Given the description of an element on the screen output the (x, y) to click on. 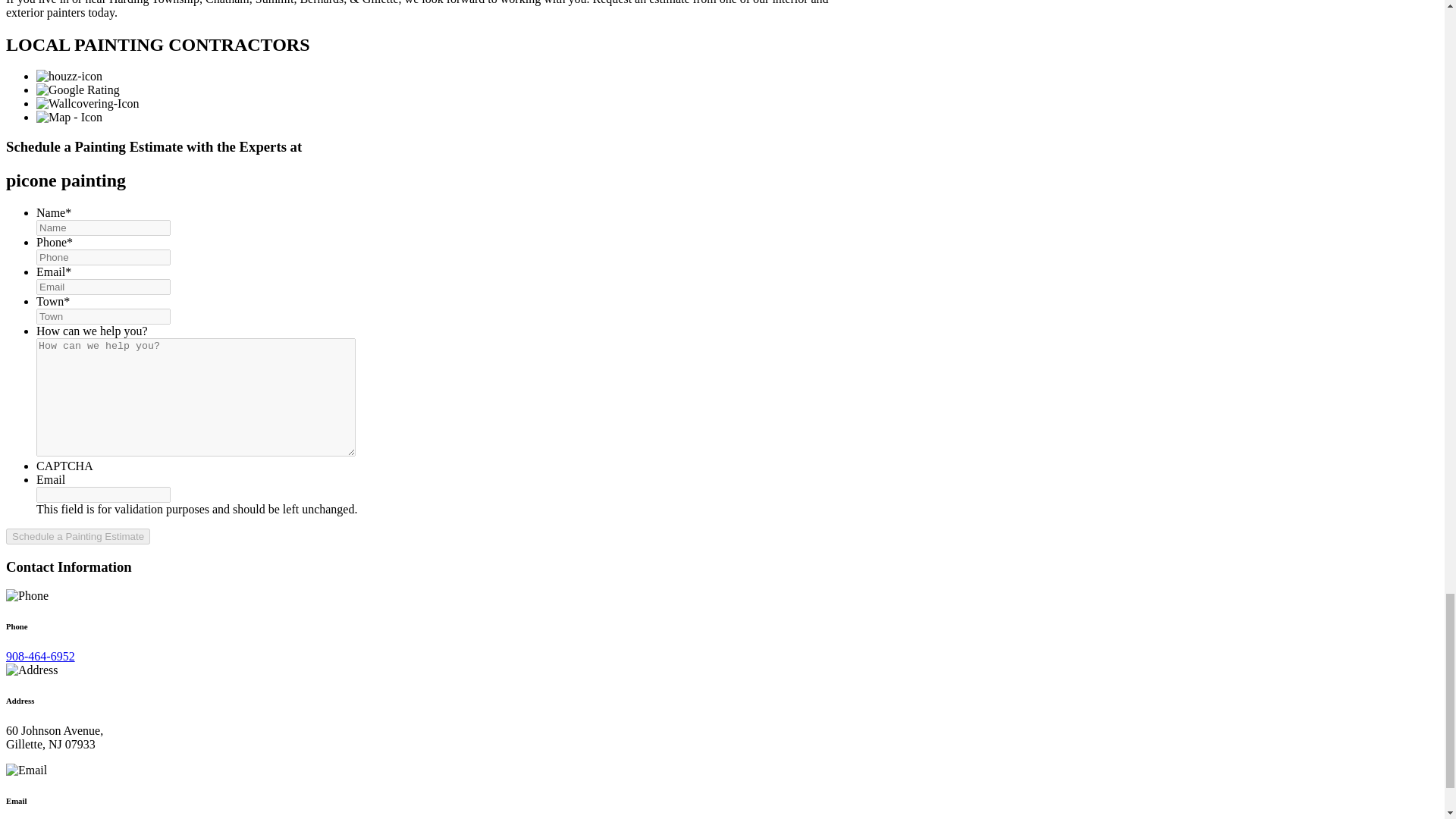
908-464-6952 (40, 656)
Schedule a Painting Estimate (77, 536)
Schedule a Painting Estimate (77, 536)
